Given the description of an element on the screen output the (x, y) to click on. 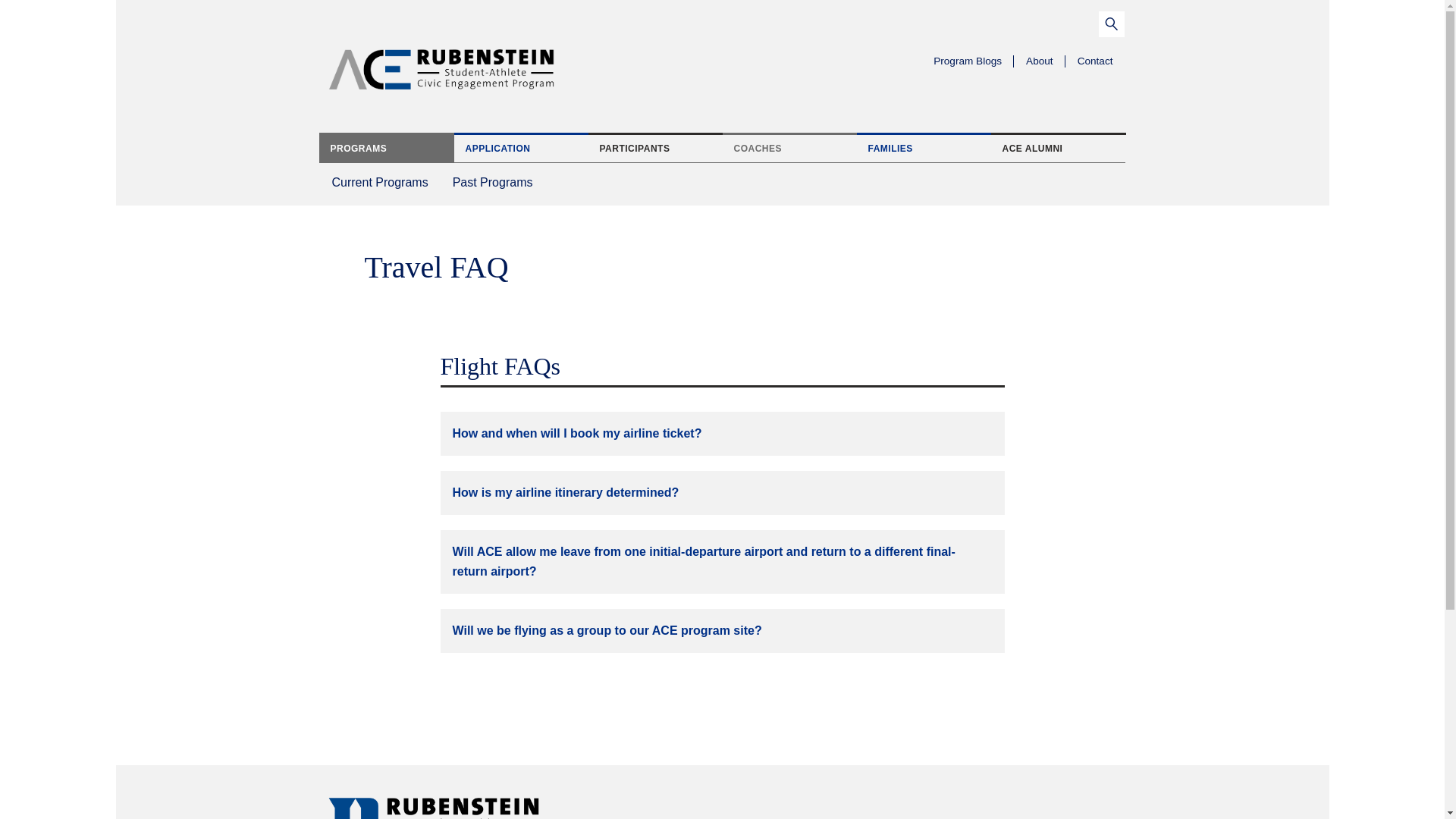
PROGRAMS (385, 147)
Skip to main content (139, 23)
ACE ALUMNI (1057, 147)
FAMILIES (380, 180)
COACHES (924, 147)
APPLICATION (789, 147)
PARTICIPANTS (520, 147)
